Given the description of an element on the screen output the (x, y) to click on. 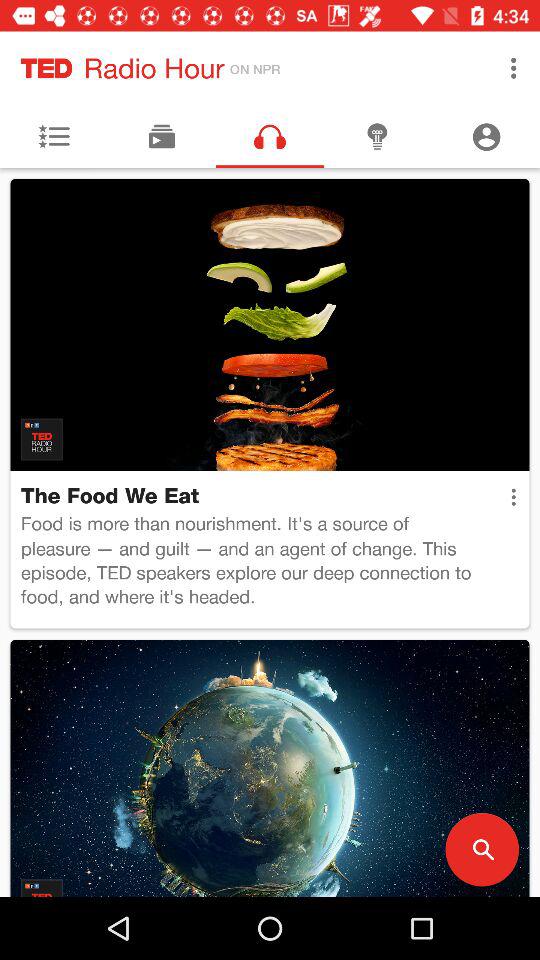
launch item next to food is more icon (513, 497)
